Given the description of an element on the screen output the (x, y) to click on. 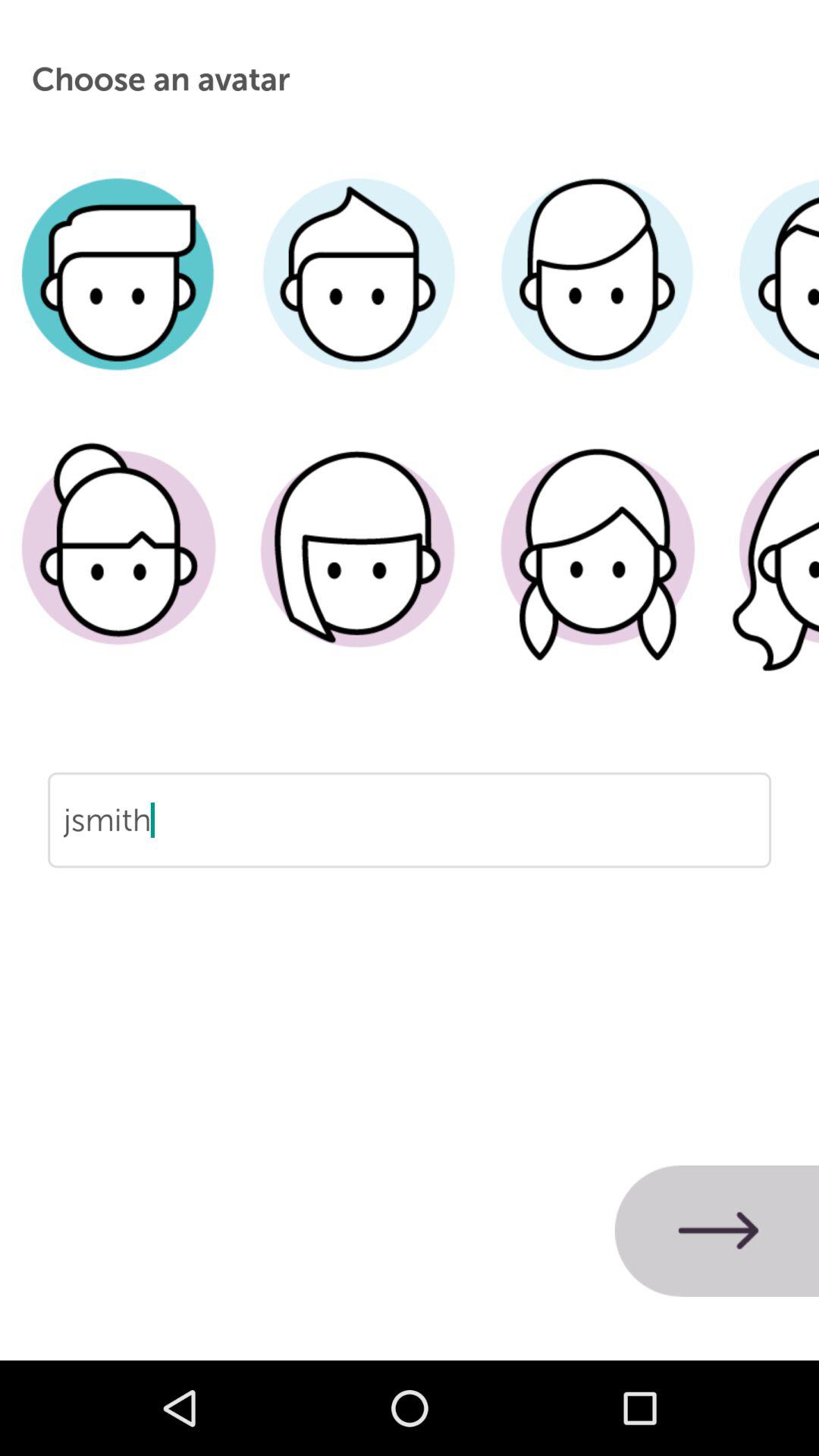
braid girl cartoon (596, 570)
